Given the description of an element on the screen output the (x, y) to click on. 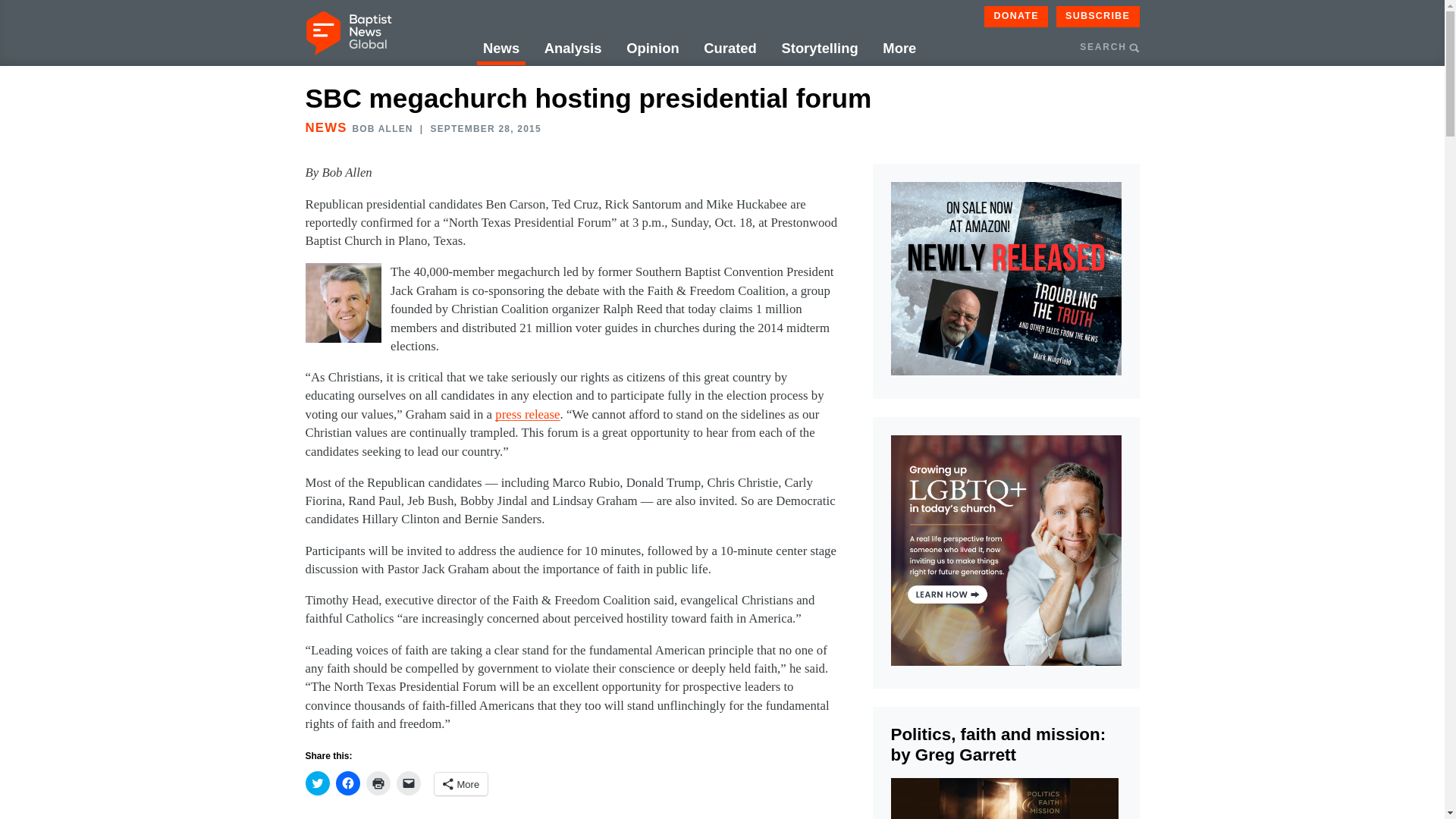
Click to print (377, 783)
Click to email a link to a friend (408, 783)
Posts by Bob Allen (382, 128)
News (501, 49)
Search (1193, 119)
Click to share on Facebook (346, 783)
NEWS (325, 127)
DONATE (1016, 16)
Curated (729, 49)
Click to share on Twitter (316, 783)
Jack Graham (342, 302)
Storytelling (819, 49)
SUBSCRIBE (1098, 16)
Analysis (573, 49)
More (898, 49)
